Given the description of an element on the screen output the (x, y) to click on. 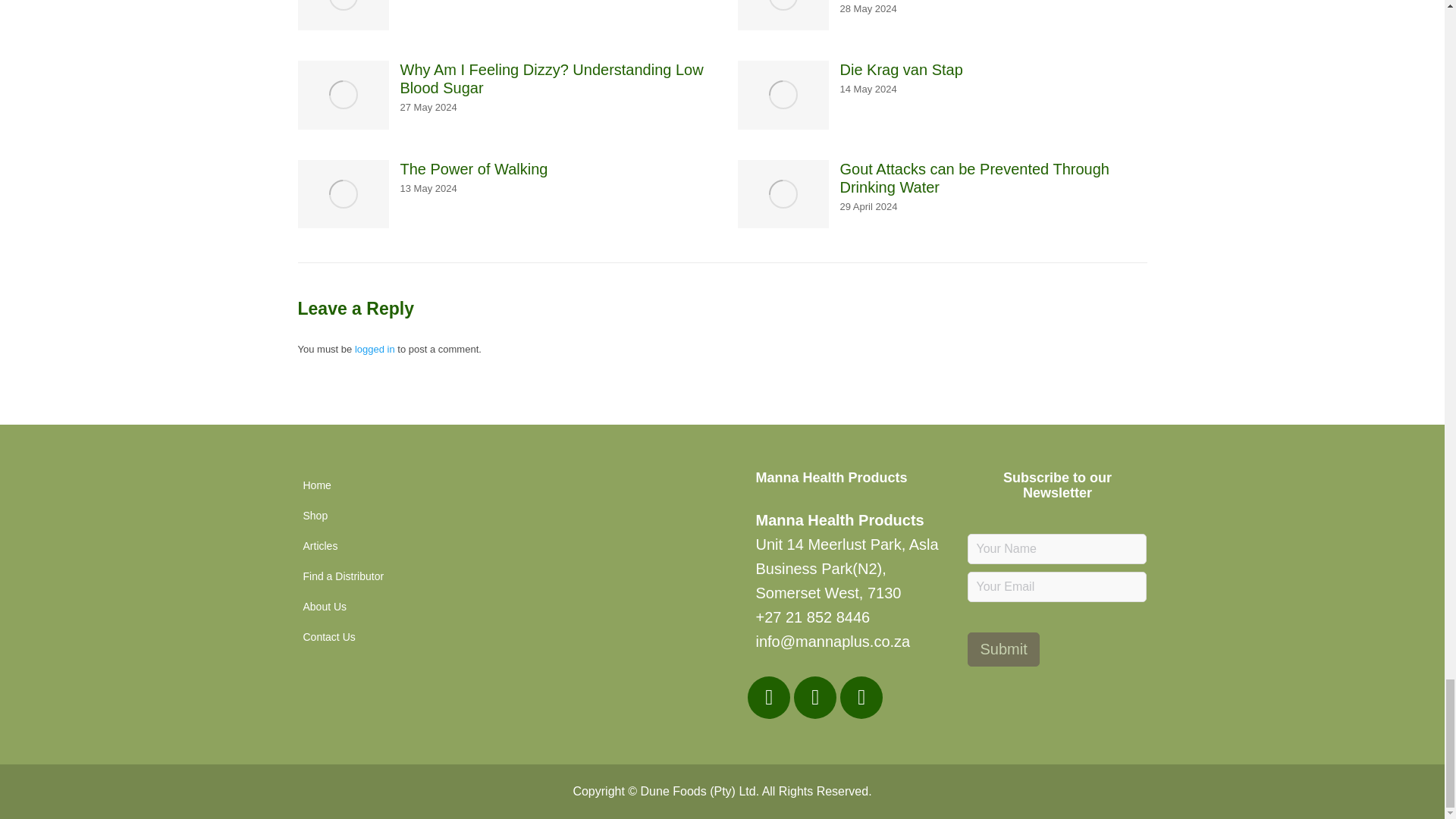
Why Am I Feeling Dizzy? Understanding Low Blood Sugar (553, 78)
12:17 pm (868, 8)
